Given the description of an element on the screen output the (x, y) to click on. 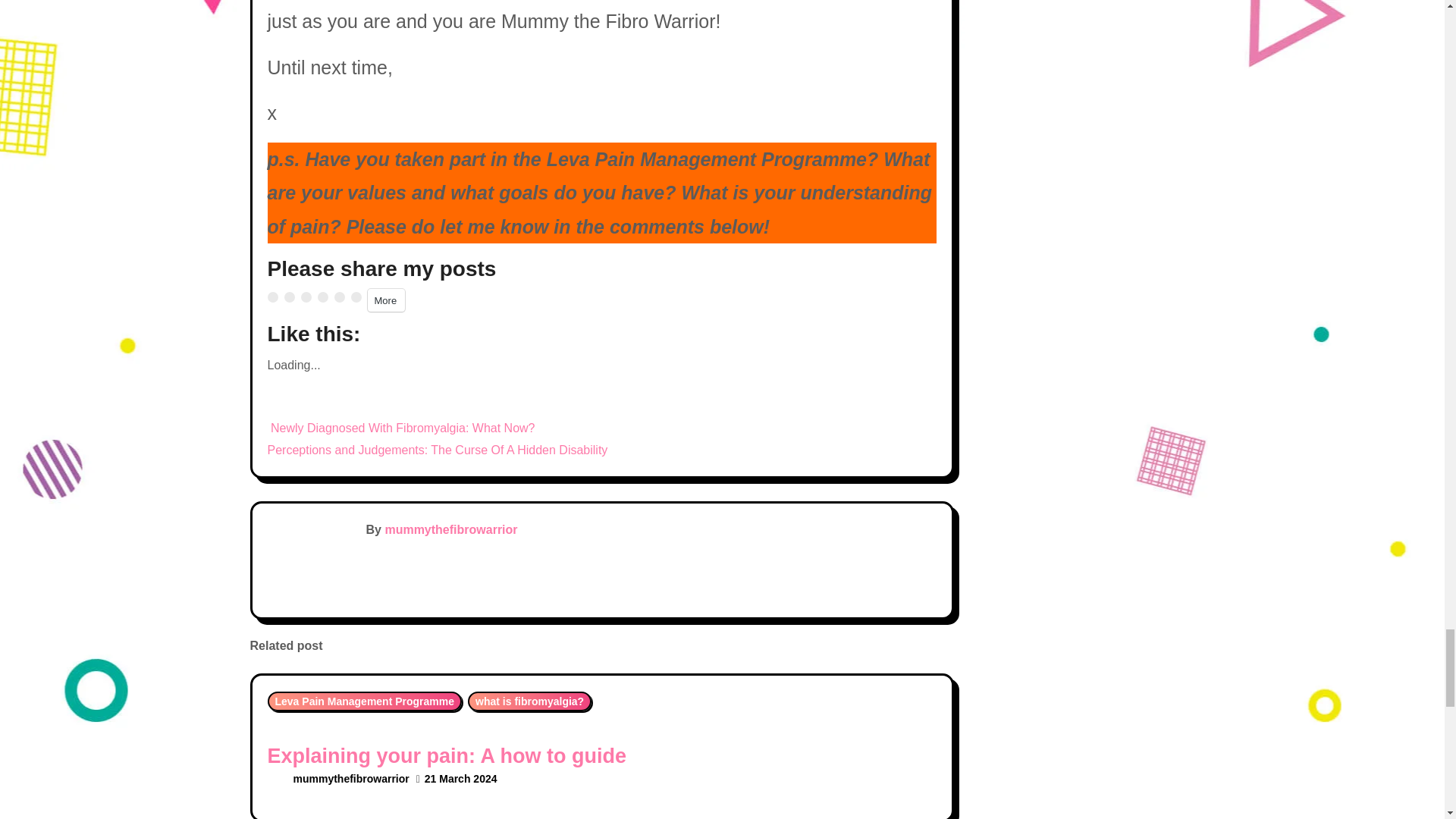
Click to share on Pinterest (305, 296)
Click to share on Twitter (272, 296)
Click to share on Facebook (288, 296)
